Given the description of an element on the screen output the (x, y) to click on. 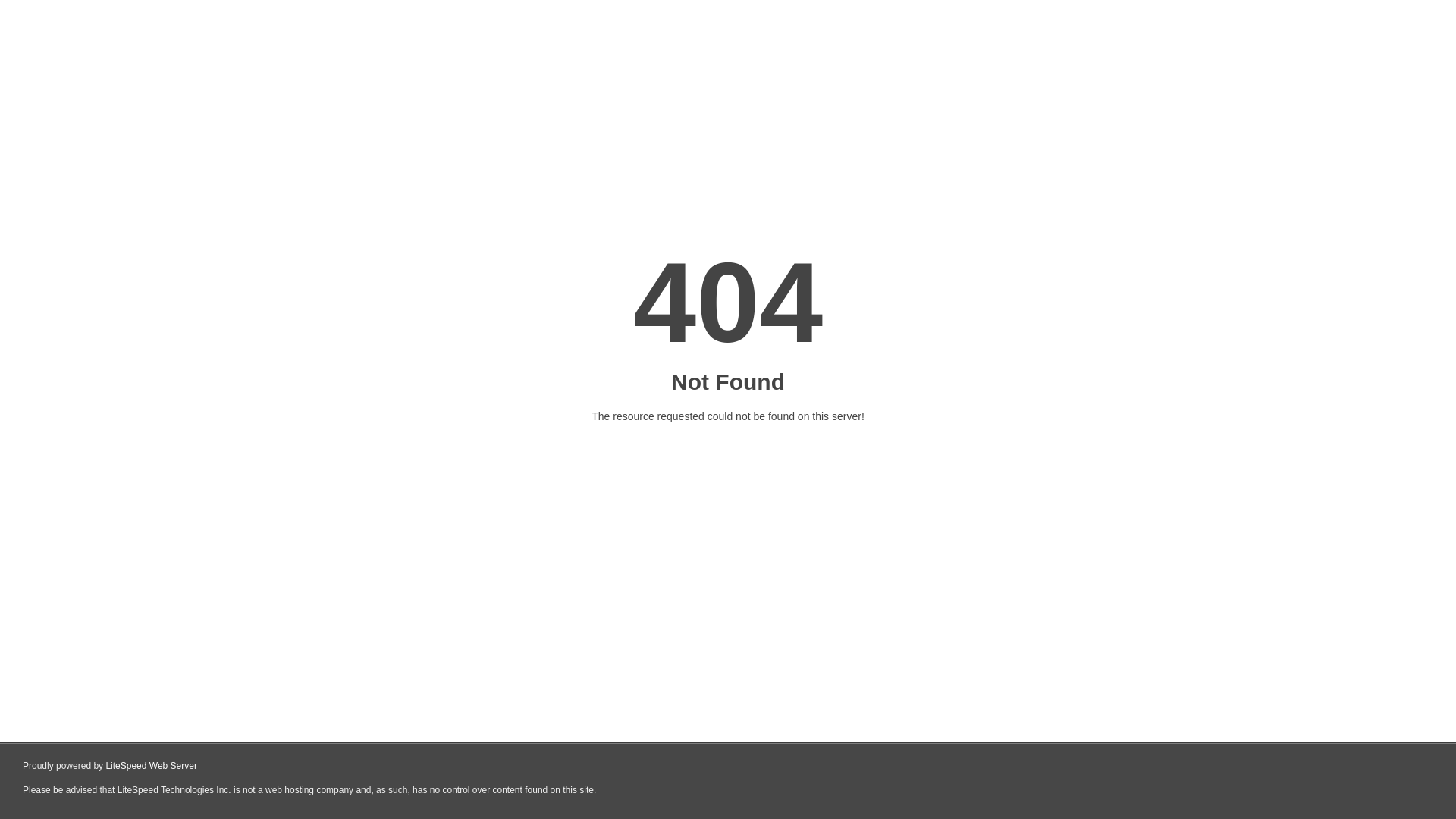
LiteSpeed Web Server Element type: text (151, 765)
